Given the description of an element on the screen output the (x, y) to click on. 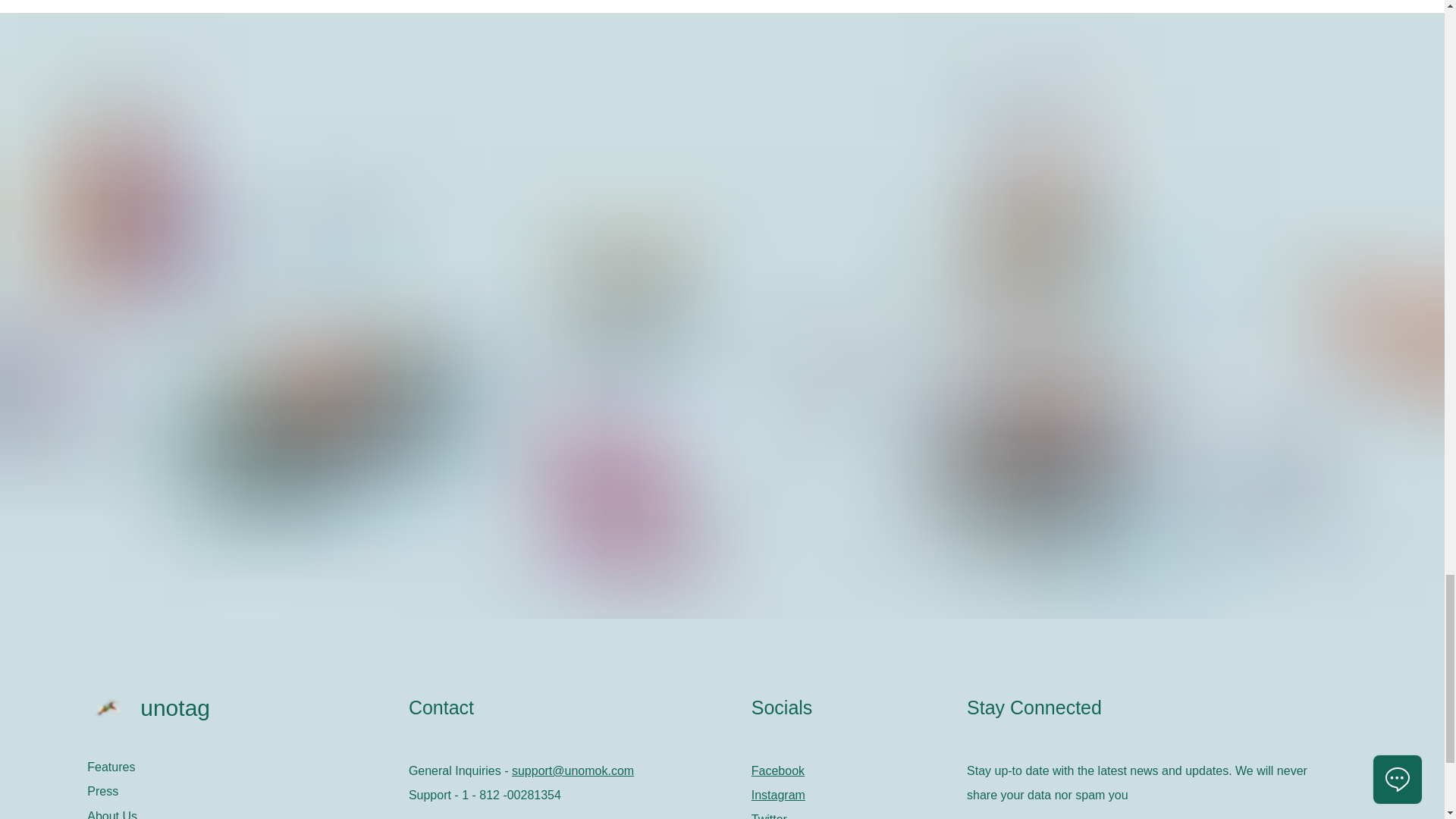
Twitter (769, 816)
Features (240, 767)
Facebook (778, 770)
Instagram (778, 794)
Press (240, 791)
About Us (240, 811)
